Given the description of an element on the screen output the (x, y) to click on. 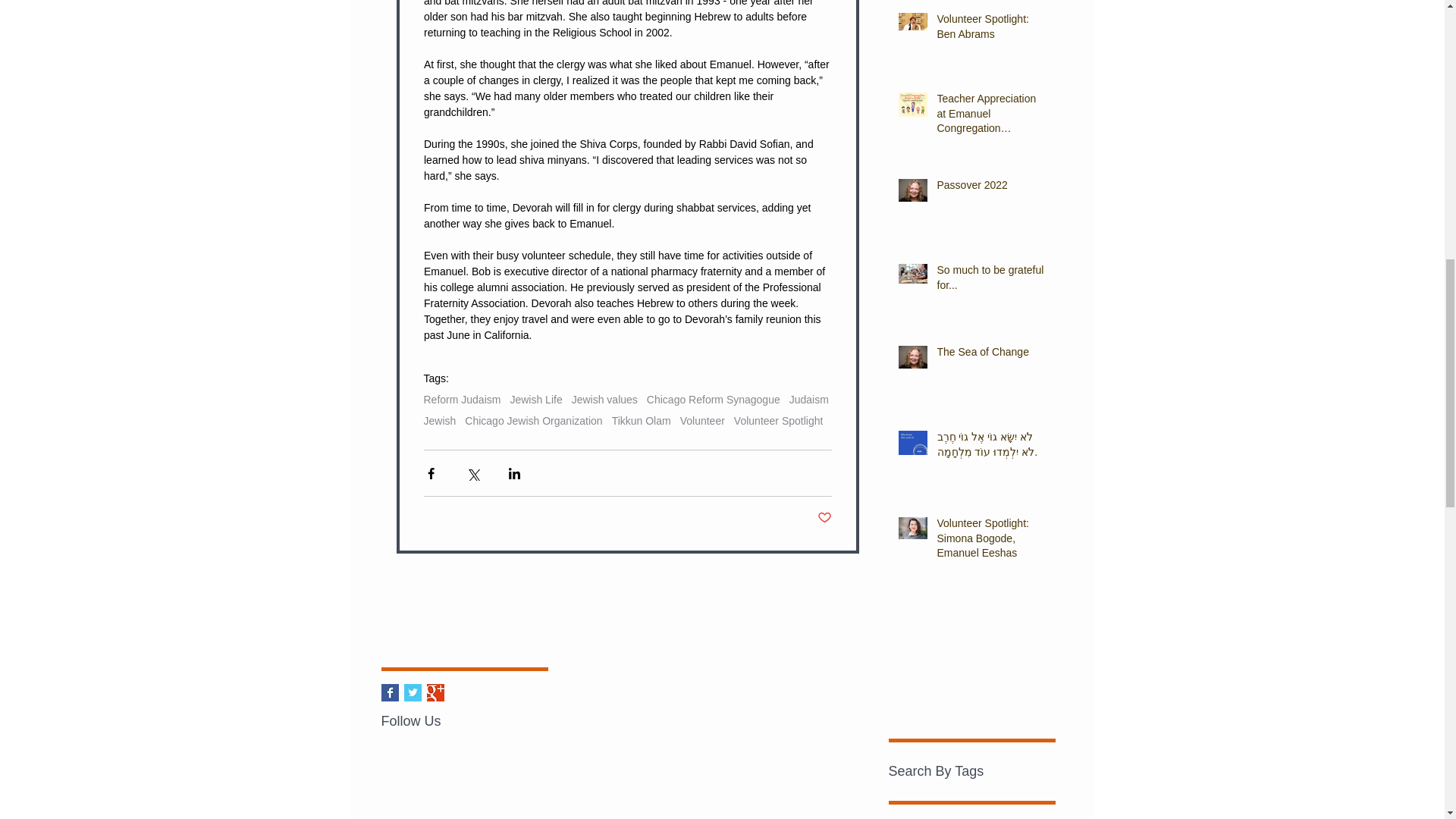
Reform Judaism (461, 399)
Jewish Life (535, 399)
Jewish values (604, 399)
